Given the description of an element on the screen output the (x, y) to click on. 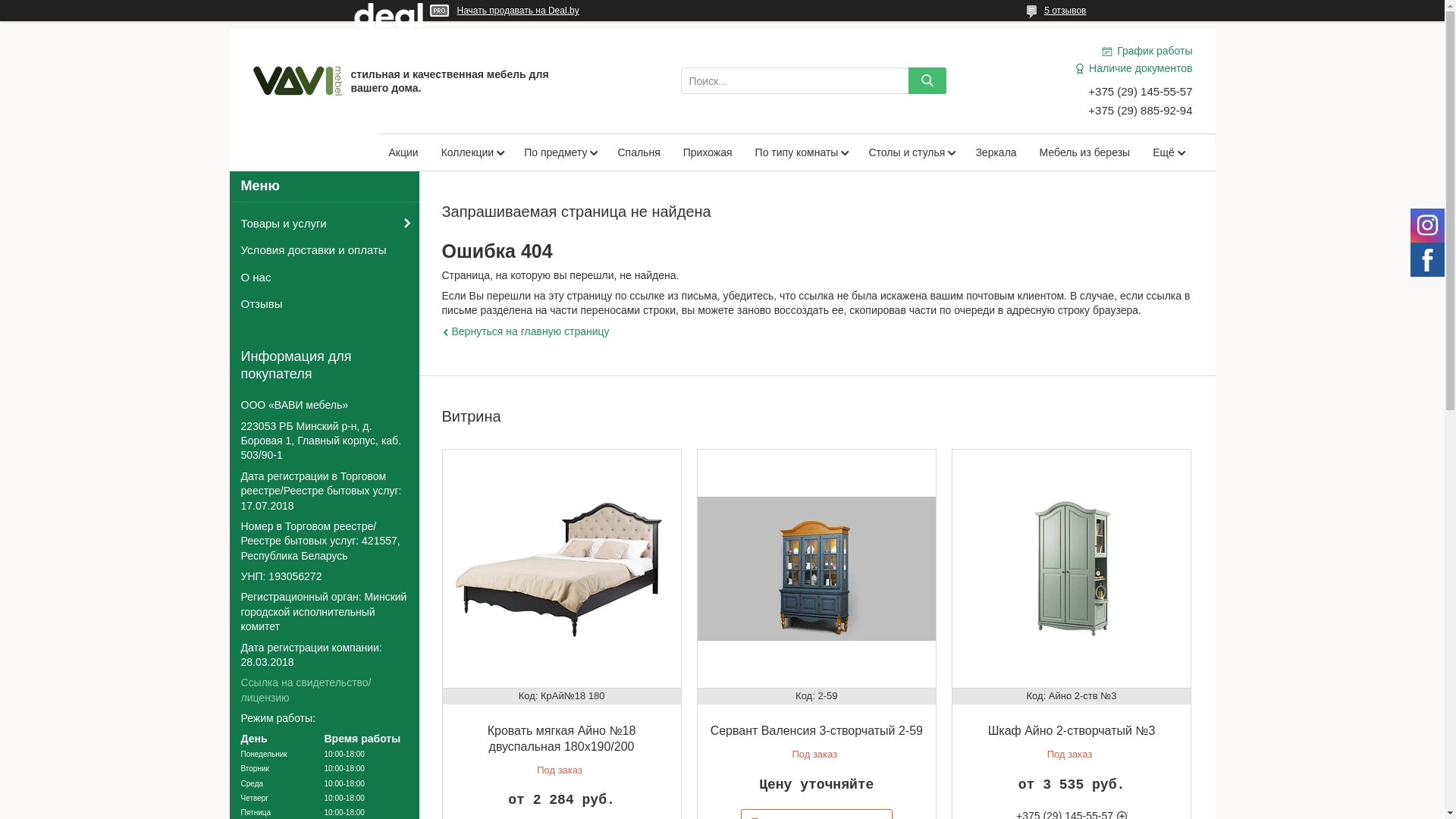
VAVI Group Element type: hover (296, 80)
